Given the description of an element on the screen output the (x, y) to click on. 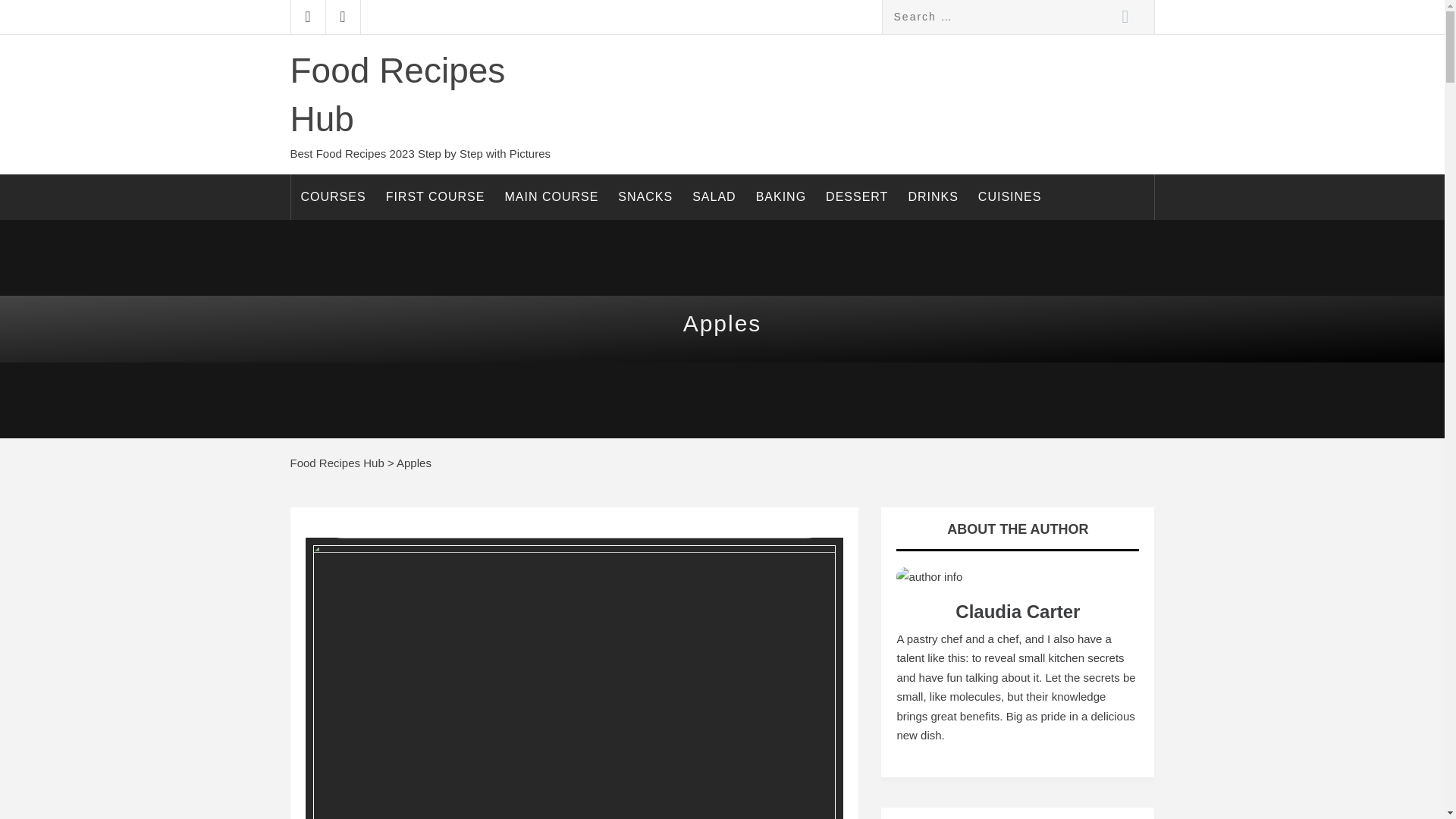
Search (1124, 17)
MAIN COURSE (551, 197)
Food Recipes Hub (397, 94)
Search (1124, 17)
Go to Food Recipes Hub. (336, 462)
Search (1124, 17)
COURSES (333, 197)
FIRST COURSE (435, 197)
